Given the description of an element on the screen output the (x, y) to click on. 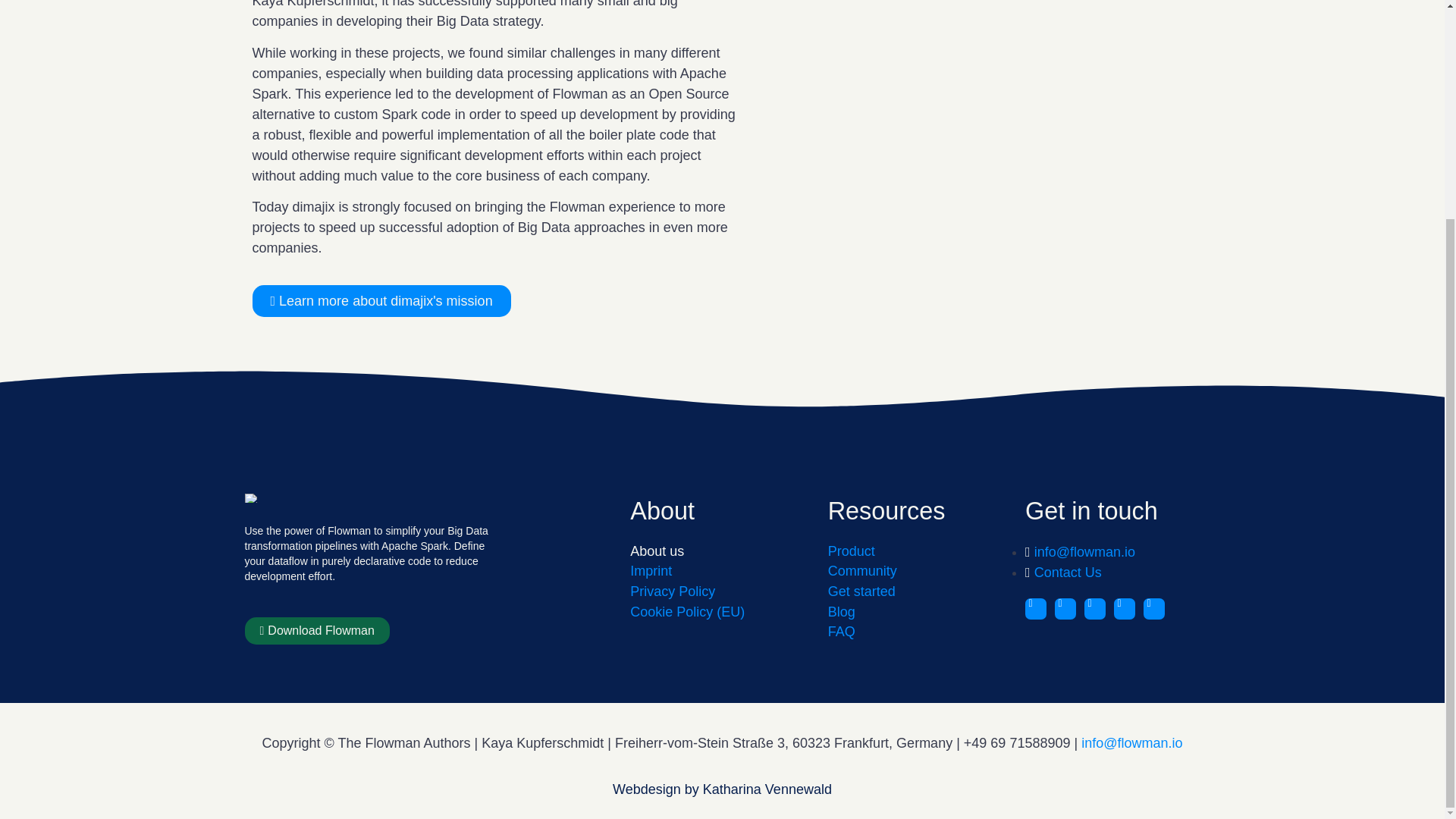
Learn more about dimajix's mission (381, 300)
